Given the description of an element on the screen output the (x, y) to click on. 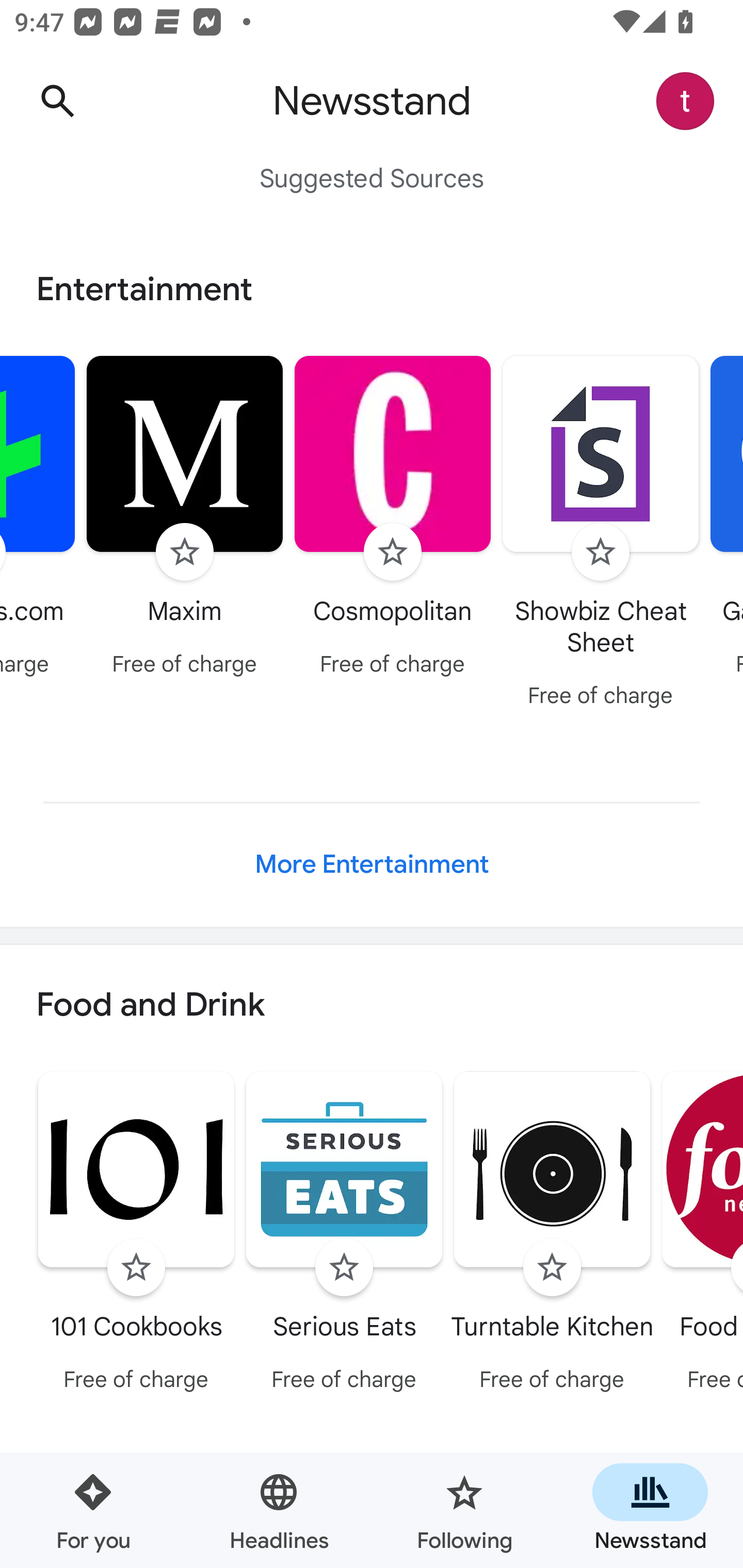
Search (57, 100)
Entertainment (371, 288)
Follow Maxim Free of charge (184, 517)
Follow Cosmopolitan Free of charge (393, 517)
Follow Showbiz Cheat Sheet Free of charge (601, 534)
Follow (184, 551)
Follow (392, 551)
Follow (600, 551)
More Entertainment (371, 864)
Food and Drink (371, 1005)
Follow 101 Cookbooks Free of charge (136, 1234)
Follow Serious Eats Free of charge (344, 1234)
Follow Turntable Kitchen Free of charge (552, 1234)
Follow (135, 1267)
Follow (343, 1267)
Follow (552, 1267)
For you (92, 1509)
Headlines (278, 1509)
Following (464, 1509)
Newsstand (650, 1509)
